Given the description of an element on the screen output the (x, y) to click on. 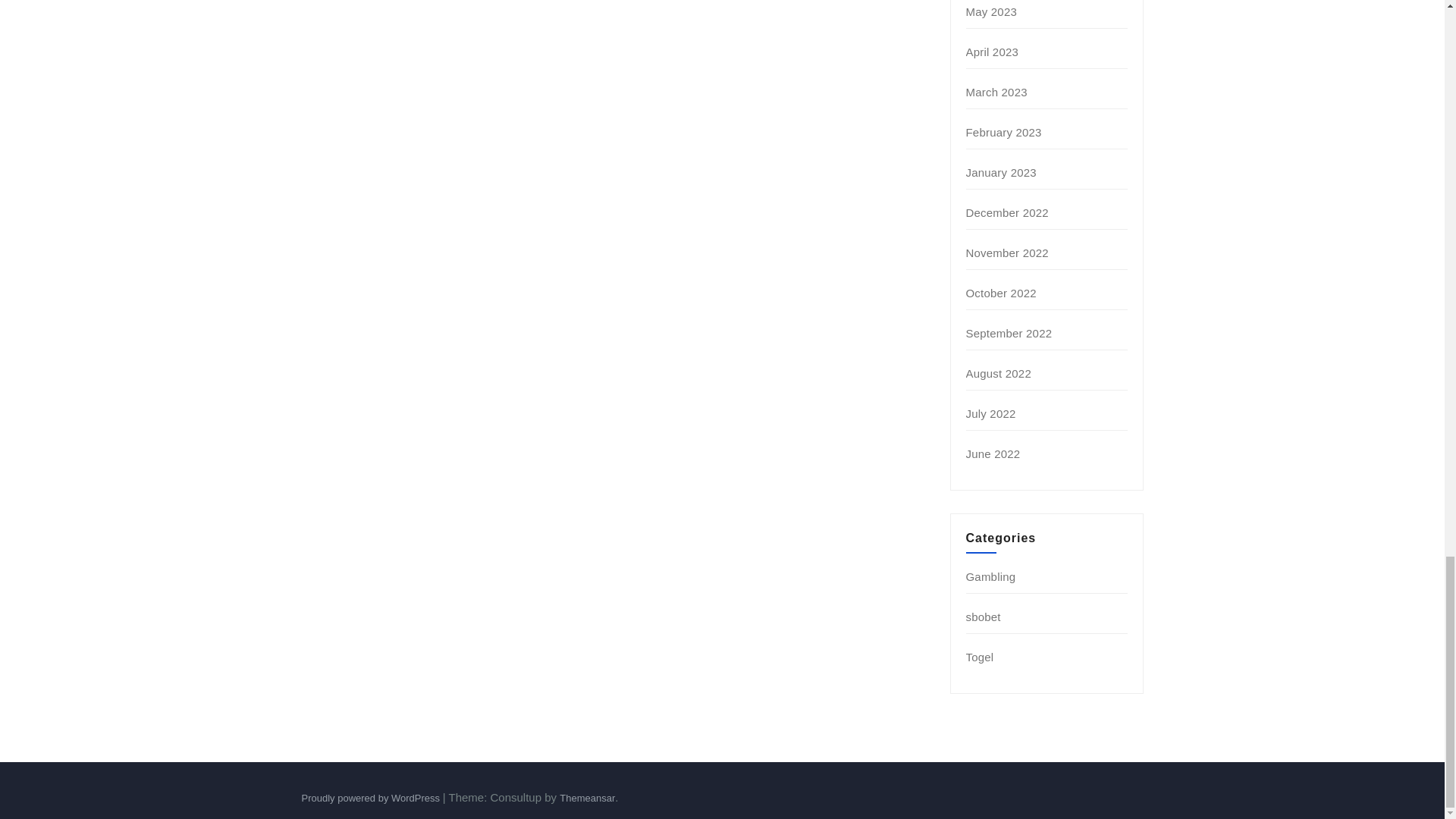
October 2022 (1001, 292)
May 2023 (991, 11)
February 2023 (1004, 132)
April 2023 (992, 51)
January 2023 (1001, 172)
March 2023 (996, 91)
December 2022 (1007, 212)
November 2022 (1007, 252)
